Given the description of an element on the screen output the (x, y) to click on. 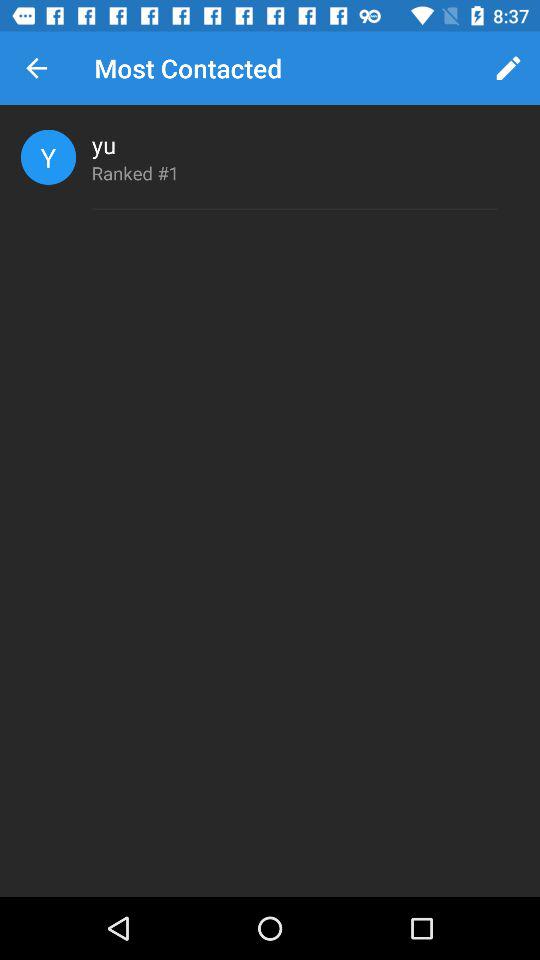
choose icon to the right of the most contacted (508, 67)
